Given the description of an element on the screen output the (x, y) to click on. 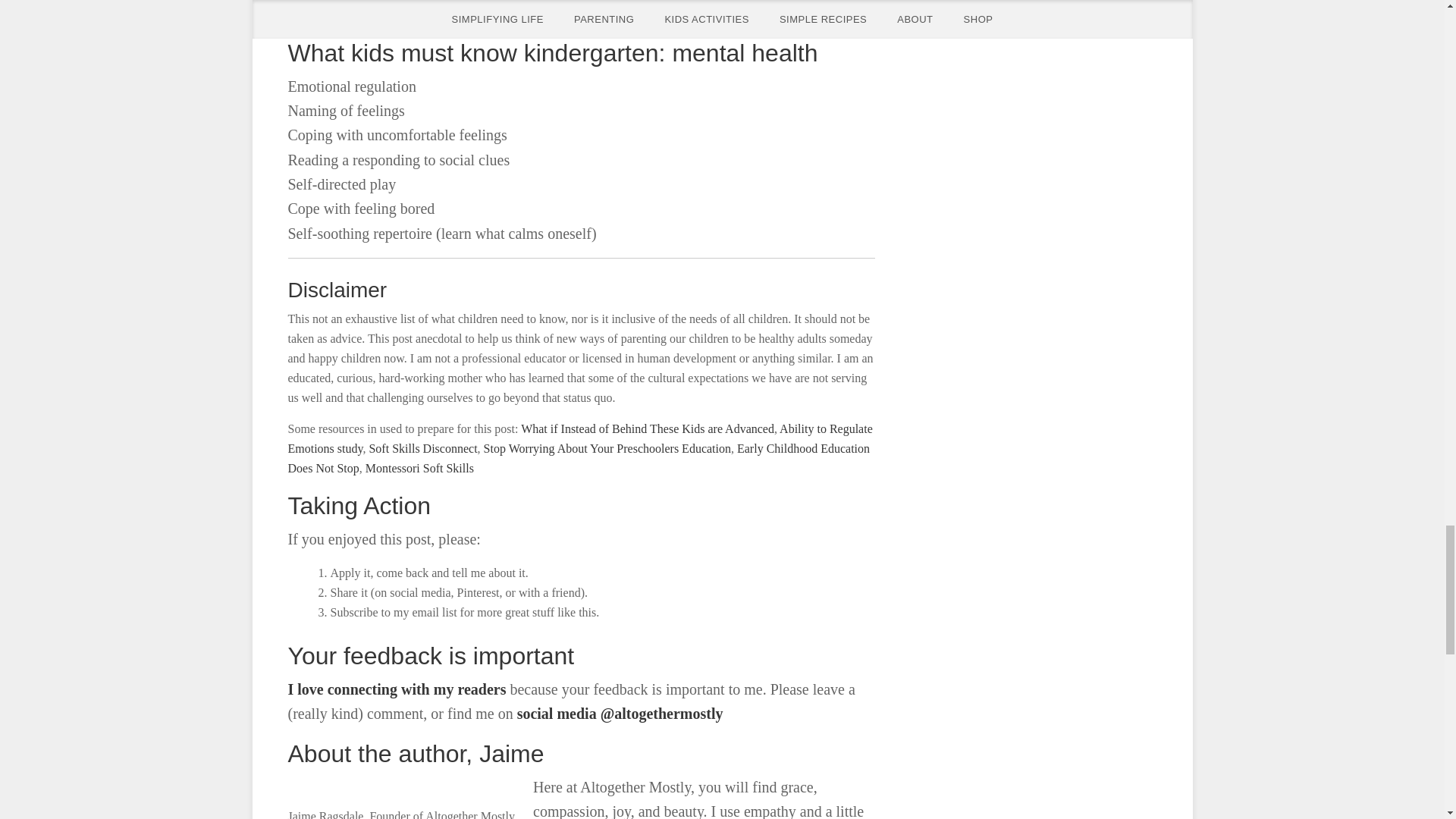
I love connecting with my readers (397, 688)
Stop Worrying About Your Preschoolers Education (606, 448)
Soft Skills Disconnect (422, 448)
What if Instead of Behind These Kids are Advanced (647, 428)
Montessori Soft Skills (419, 468)
Early Childhood Education Does Not Stop (579, 458)
Ability to Regulate Emotions study (580, 438)
